Given the description of an element on the screen output the (x, y) to click on. 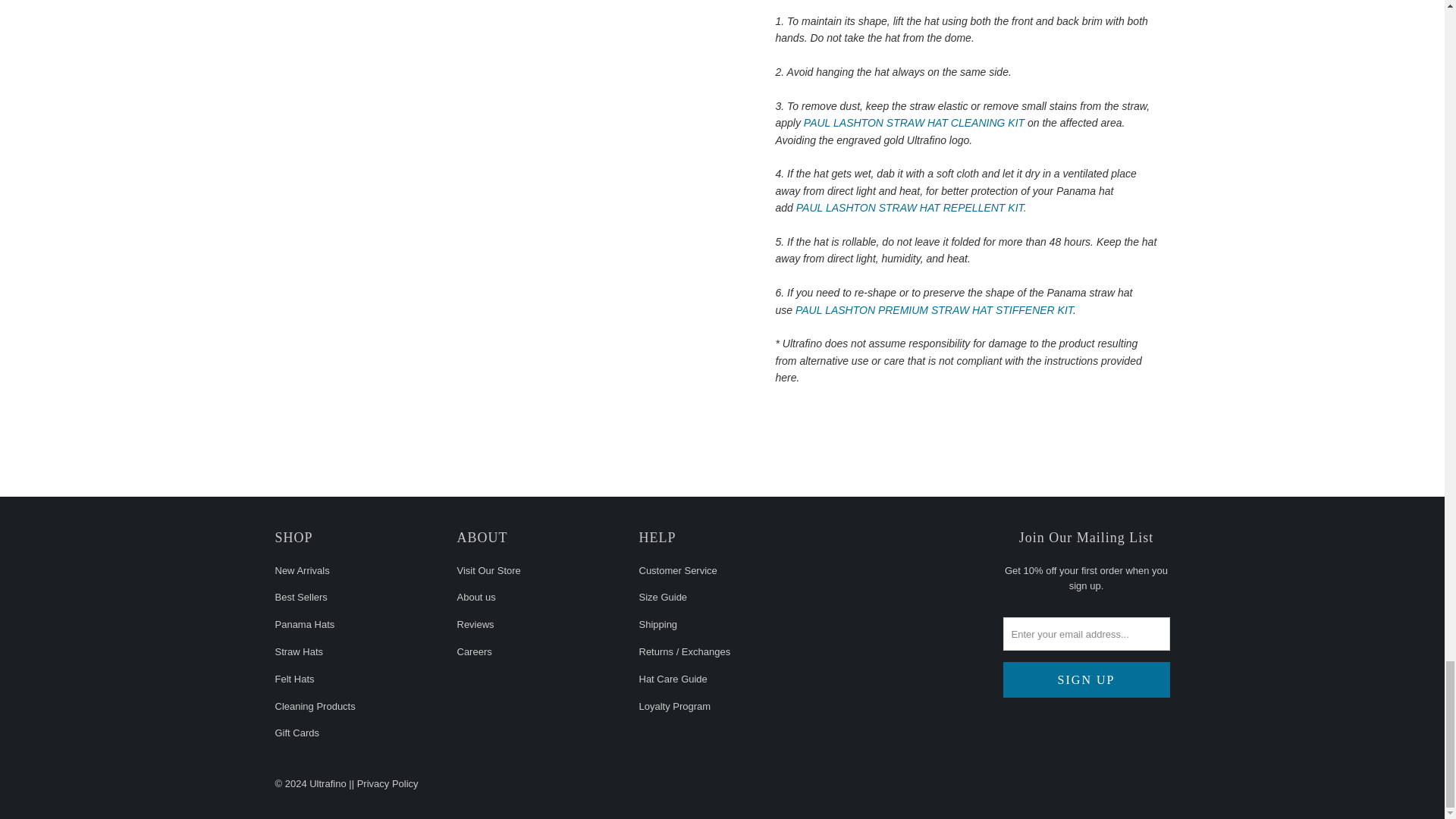
Sign Up (1086, 679)
